Given the description of an element on the screen output the (x, y) to click on. 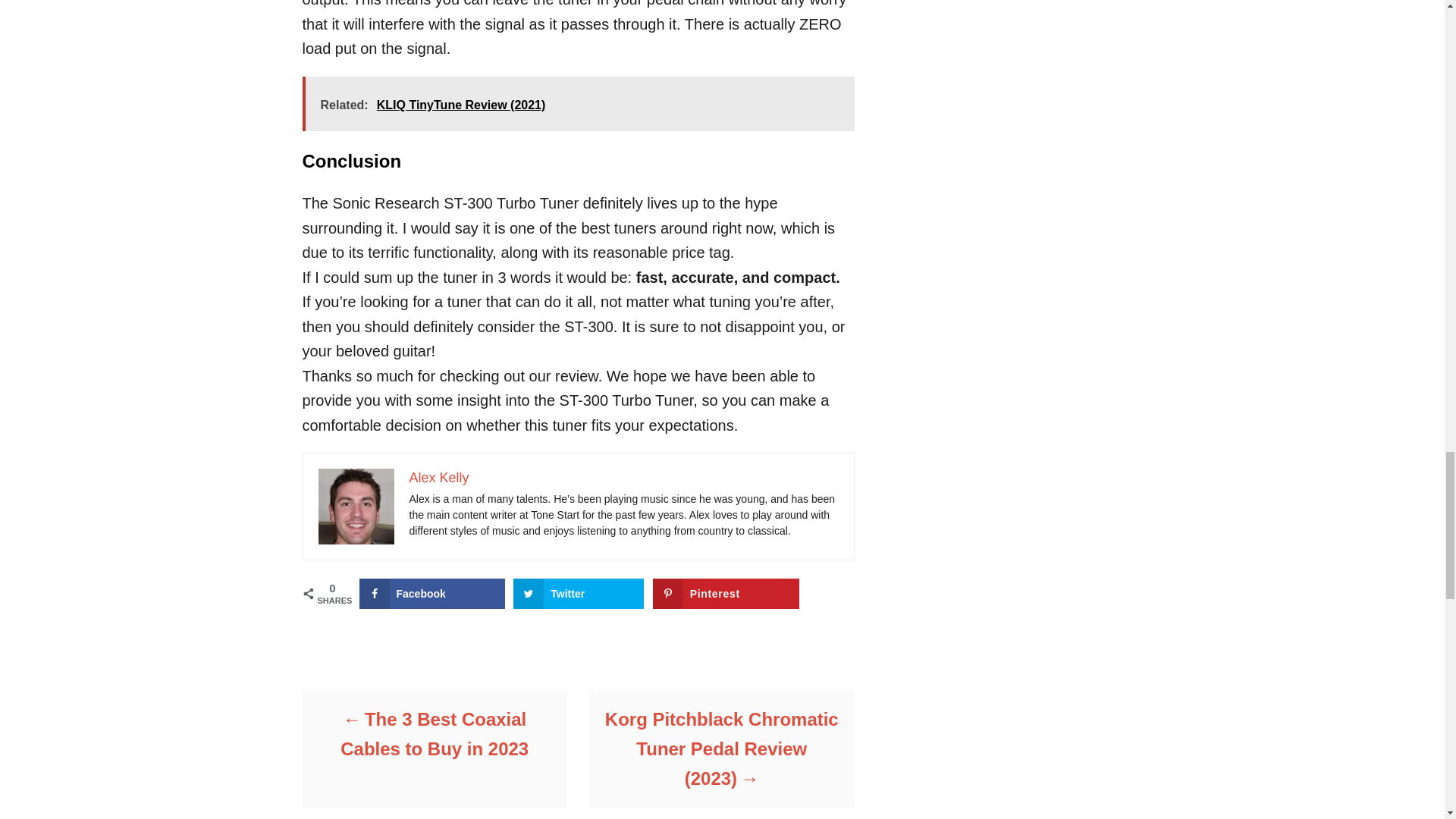
Save to Pinterest (725, 593)
Share on Twitter (578, 593)
Share on Facebook (432, 593)
